Given the description of an element on the screen output the (x, y) to click on. 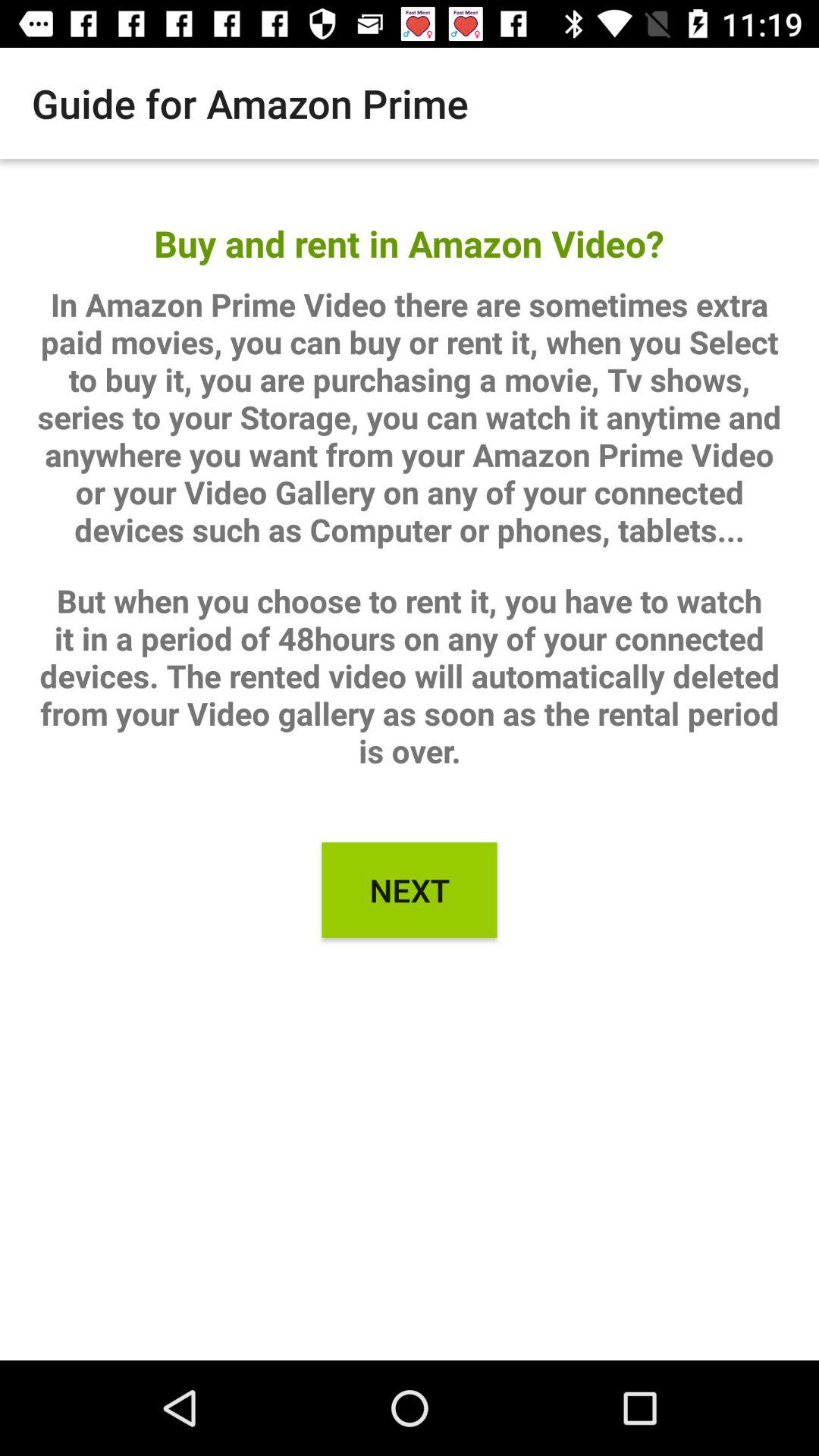
turn off item below but when you (409, 889)
